Given the description of an element on the screen output the (x, y) to click on. 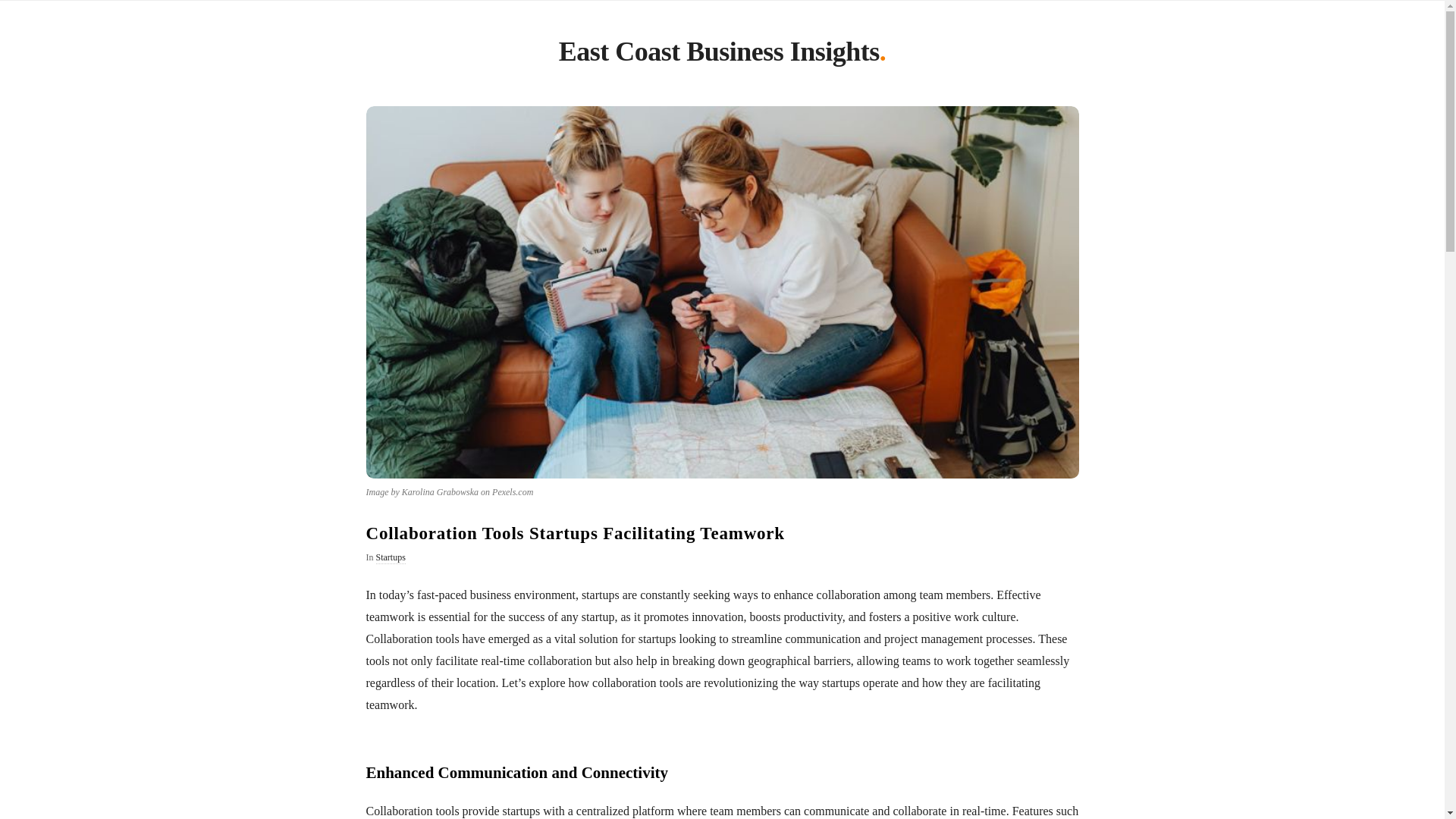
East Coast Business Insights (719, 55)
East Coast Business Insights (719, 55)
Startups (390, 558)
